Given the description of an element on the screen output the (x, y) to click on. 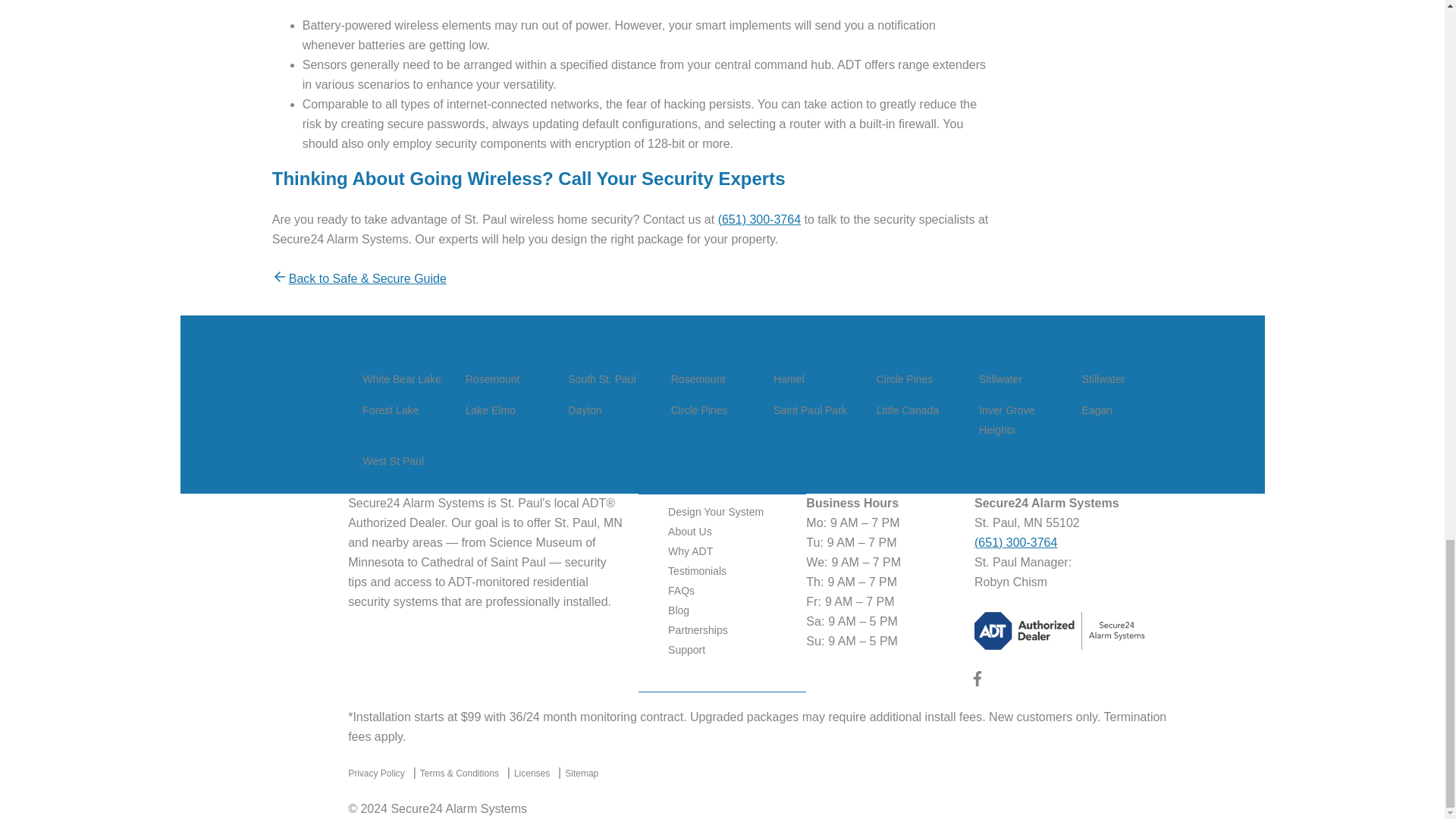
Like us on Facebook (977, 681)
